Given the description of an element on the screen output the (x, y) to click on. 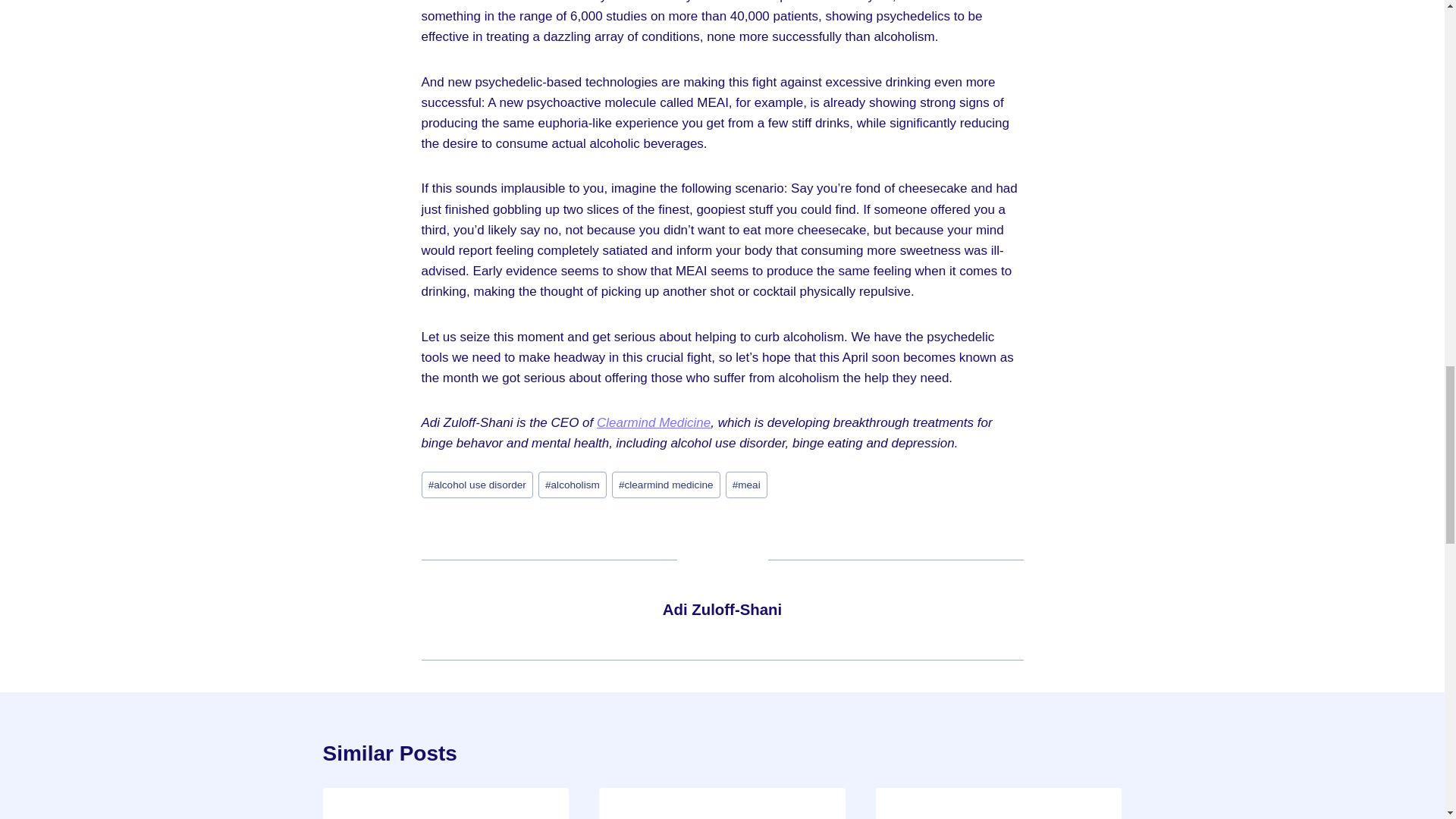
alcohol use disorder (478, 484)
Adi Zuloff-Shani (721, 609)
Posts by Adi Zuloff-Shani (721, 609)
meai (746, 484)
Clearmind Medicine (653, 422)
alcoholism (572, 484)
clearmind medicine (665, 484)
